Given the description of an element on the screen output the (x, y) to click on. 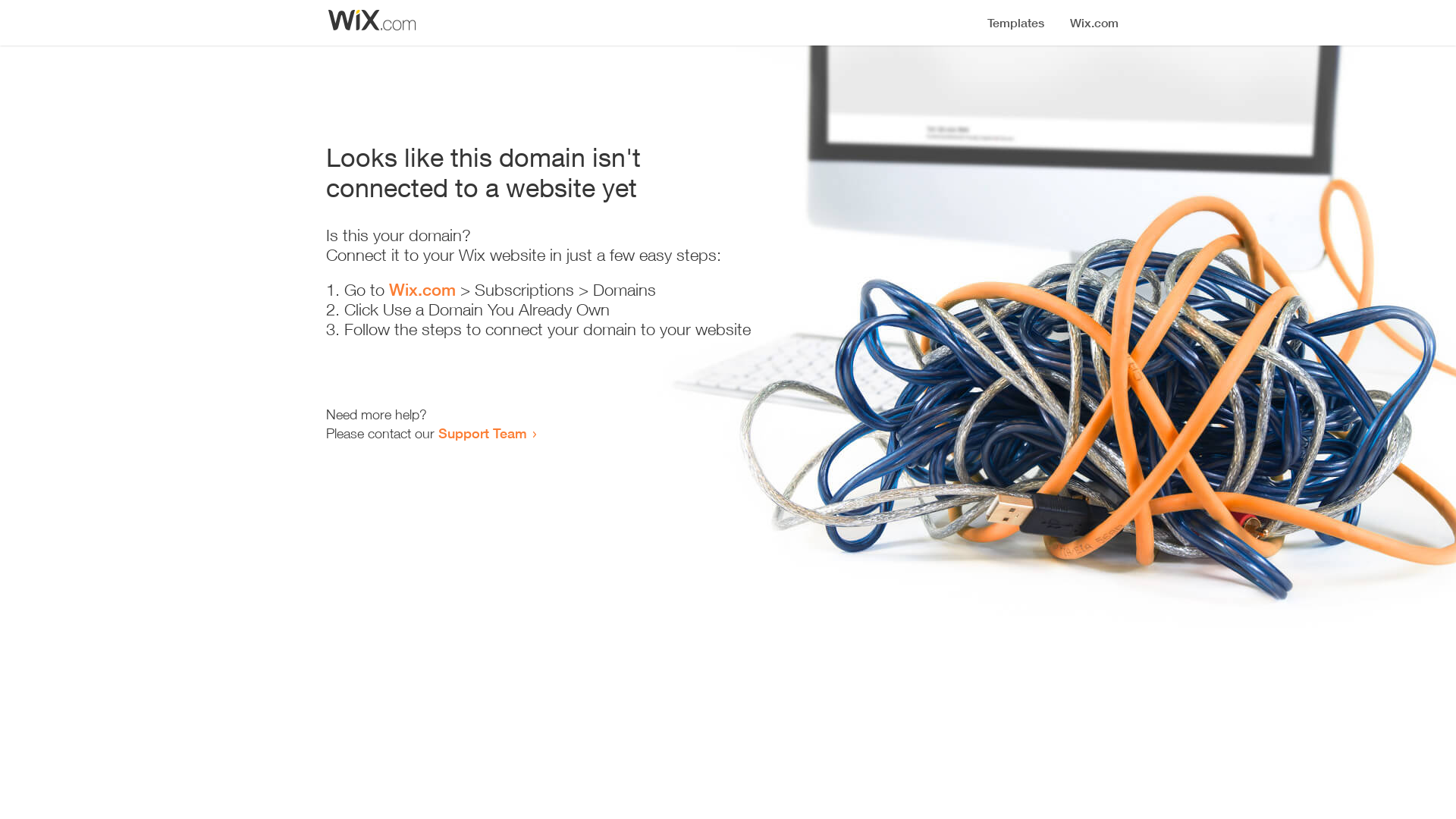
Support Team Element type: text (482, 432)
Wix.com Element type: text (422, 289)
